Given the description of an element on the screen output the (x, y) to click on. 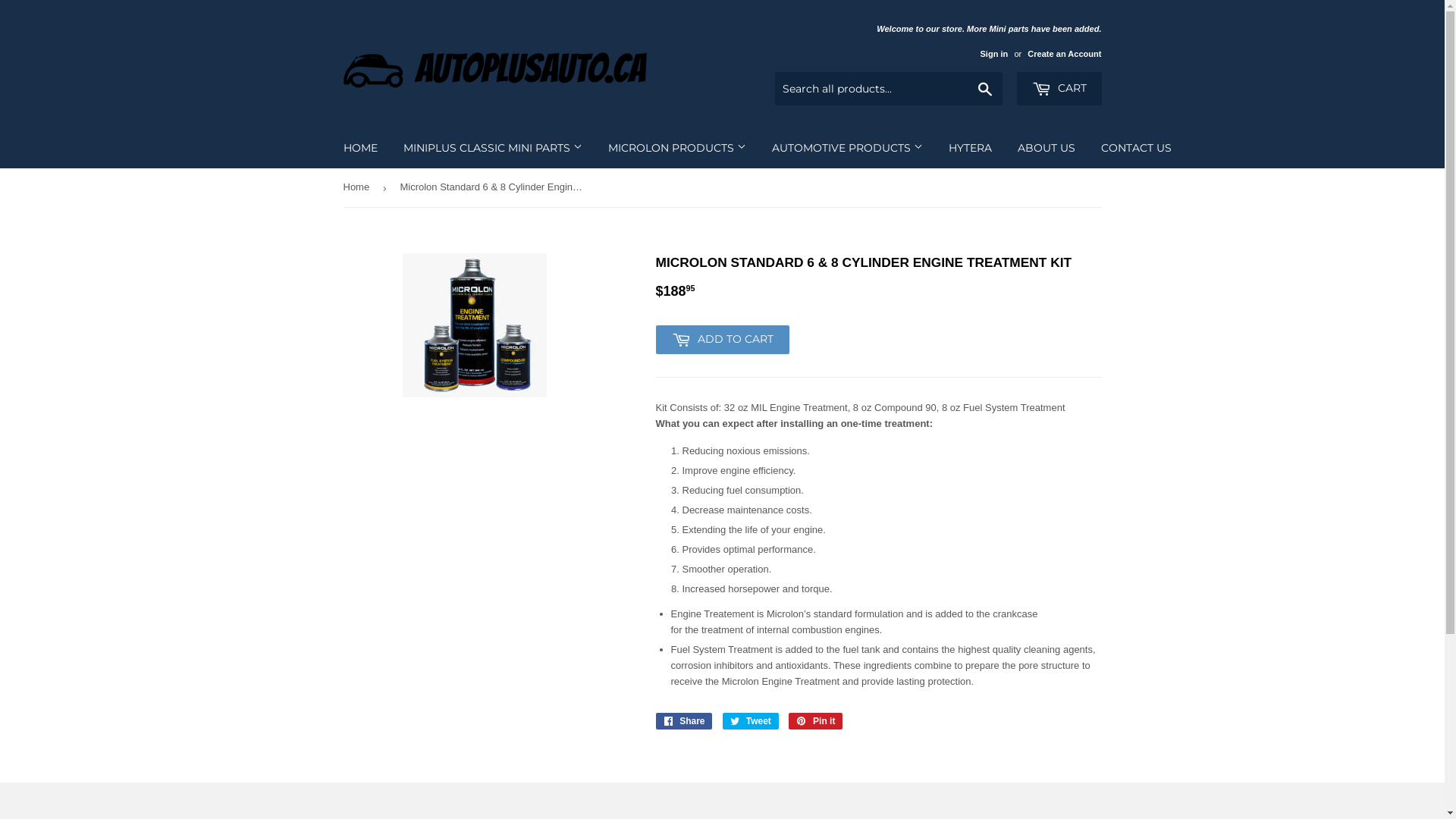
Search Element type: text (985, 89)
Home Element type: text (358, 187)
CART Element type: text (1058, 88)
CONTACT US Element type: text (1135, 147)
Share
Share on Facebook Element type: text (683, 720)
ABOUT US Element type: text (1045, 147)
ADD TO CART Element type: text (721, 339)
Create an Account Element type: text (1064, 53)
AUTOMOTIVE PRODUCTS Element type: text (846, 147)
HOME Element type: text (360, 147)
HYTERA Element type: text (970, 147)
Sign in Element type: text (993, 53)
MICROLON PRODUCTS Element type: text (676, 147)
Pin it
Pin on Pinterest Element type: text (815, 720)
Tweet
Tweet on Twitter Element type: text (750, 720)
MINIPLUS CLASSIC MINI PARTS Element type: text (492, 147)
